Given the description of an element on the screen output the (x, y) to click on. 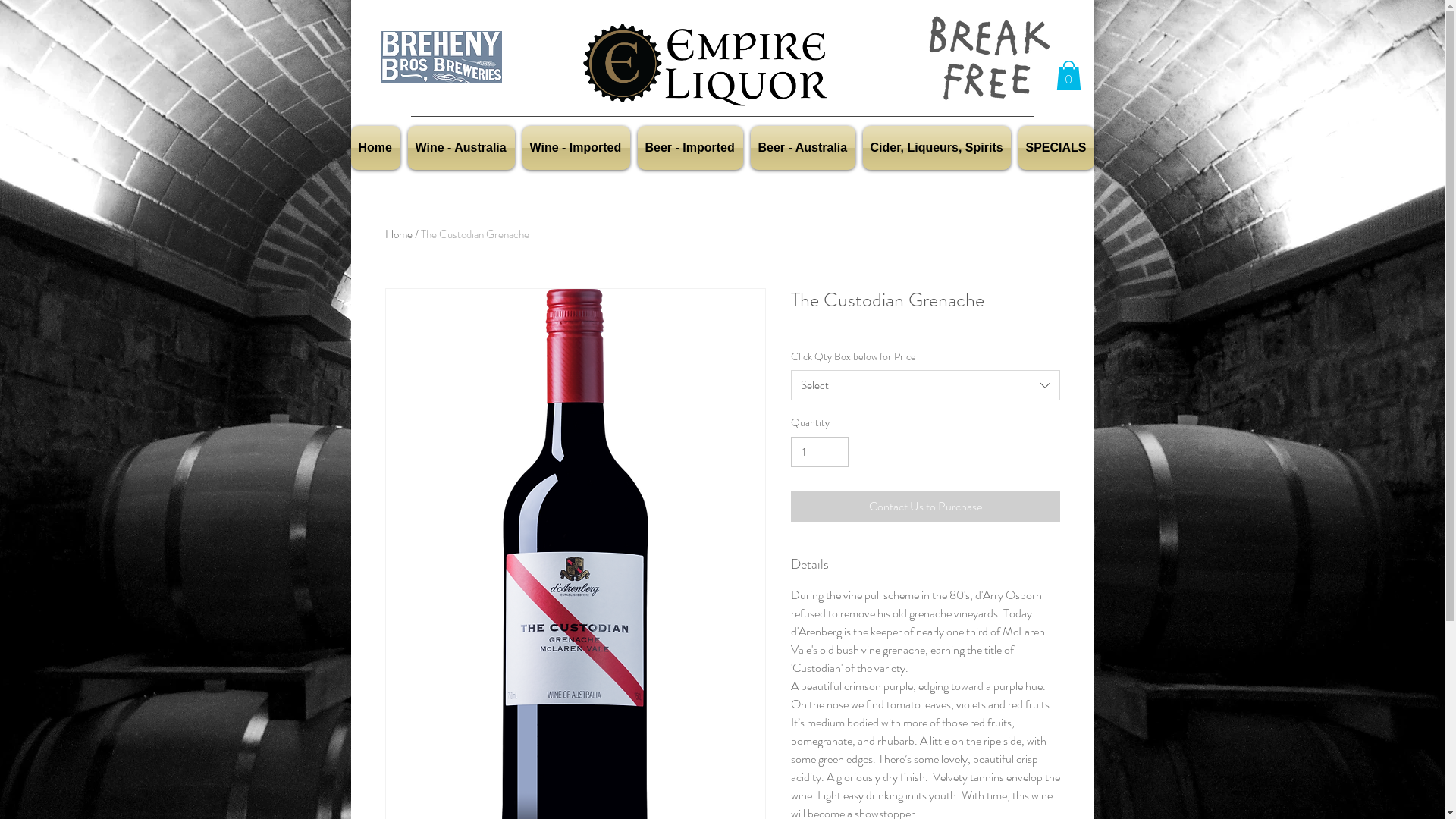
The Custodian Grenache Element type: text (474, 233)
Select Element type: text (924, 385)
Home Element type: text (398, 233)
Wine - Imported Element type: text (575, 147)
Home Element type: text (376, 147)
Contact Us to Purchase Element type: text (924, 506)
0 Element type: text (1067, 75)
Empire Liquor Element type: hover (705, 64)
SPECIALS Element type: text (1054, 147)
